Given the description of an element on the screen output the (x, y) to click on. 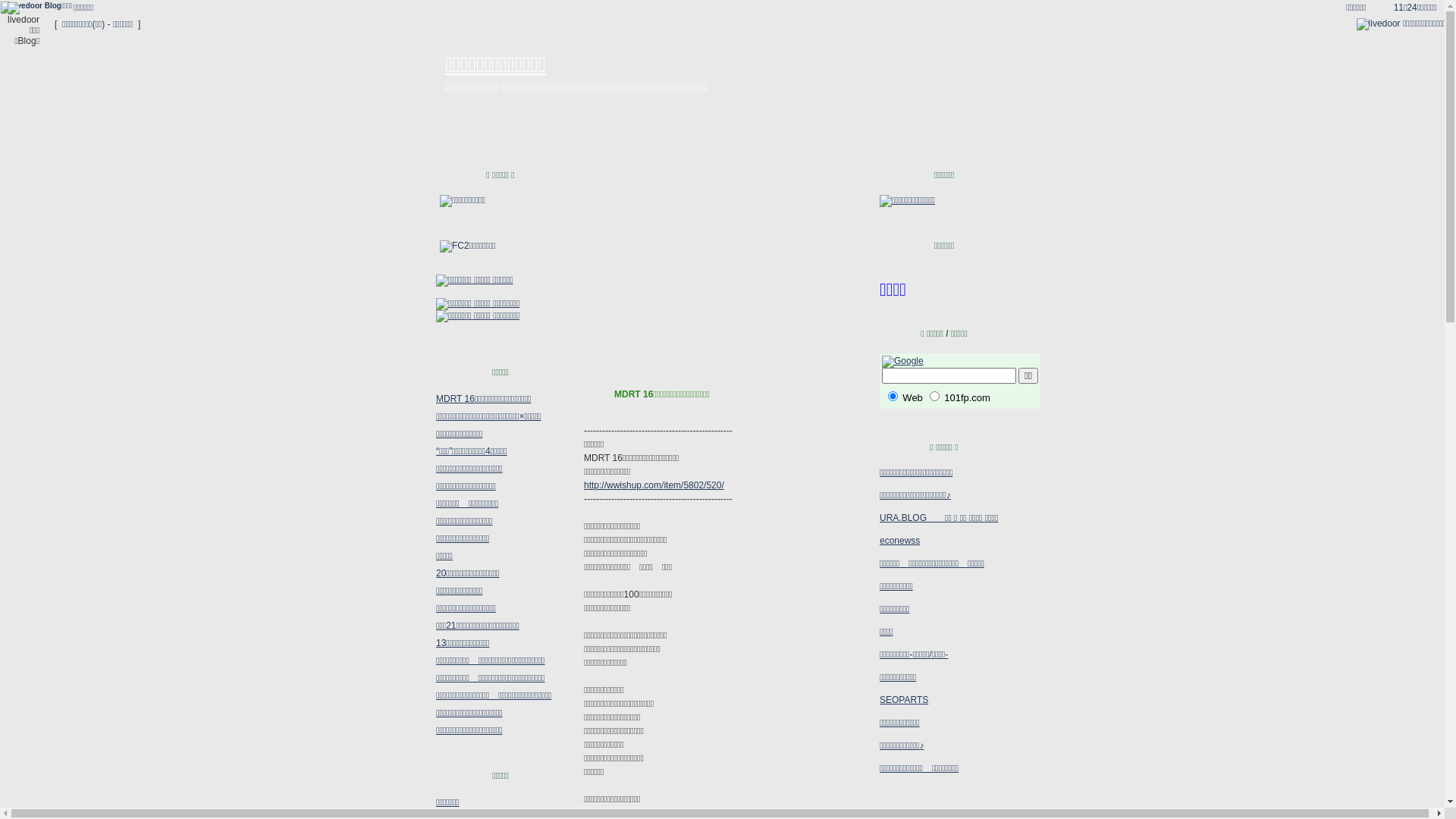
http://wwishup.com/item/5802/520/ Element type: text (653, 485)
SEOPARTS Element type: text (903, 699)
Advertisement Element type: hover (721, 265)
econewss Element type: text (899, 546)
